Given the description of an element on the screen output the (x, y) to click on. 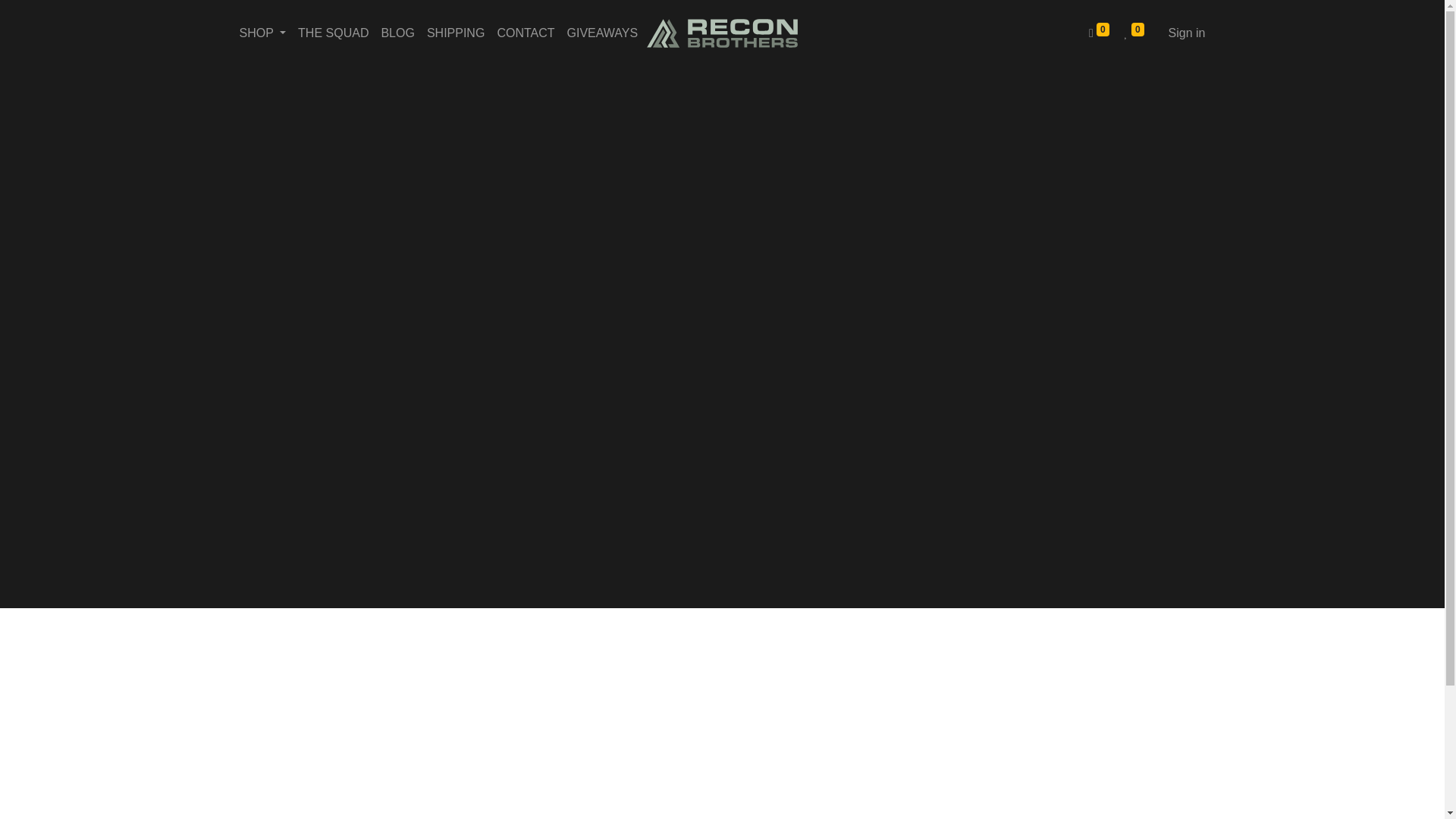
0 (1099, 33)
Reconbrothers (721, 32)
SHIPPING (455, 33)
THE SQUAD (333, 33)
CONTACT (525, 33)
BLOG (397, 33)
Sign in (1186, 33)
SHOP (262, 33)
0 (1134, 33)
